Given the description of an element on the screen output the (x, y) to click on. 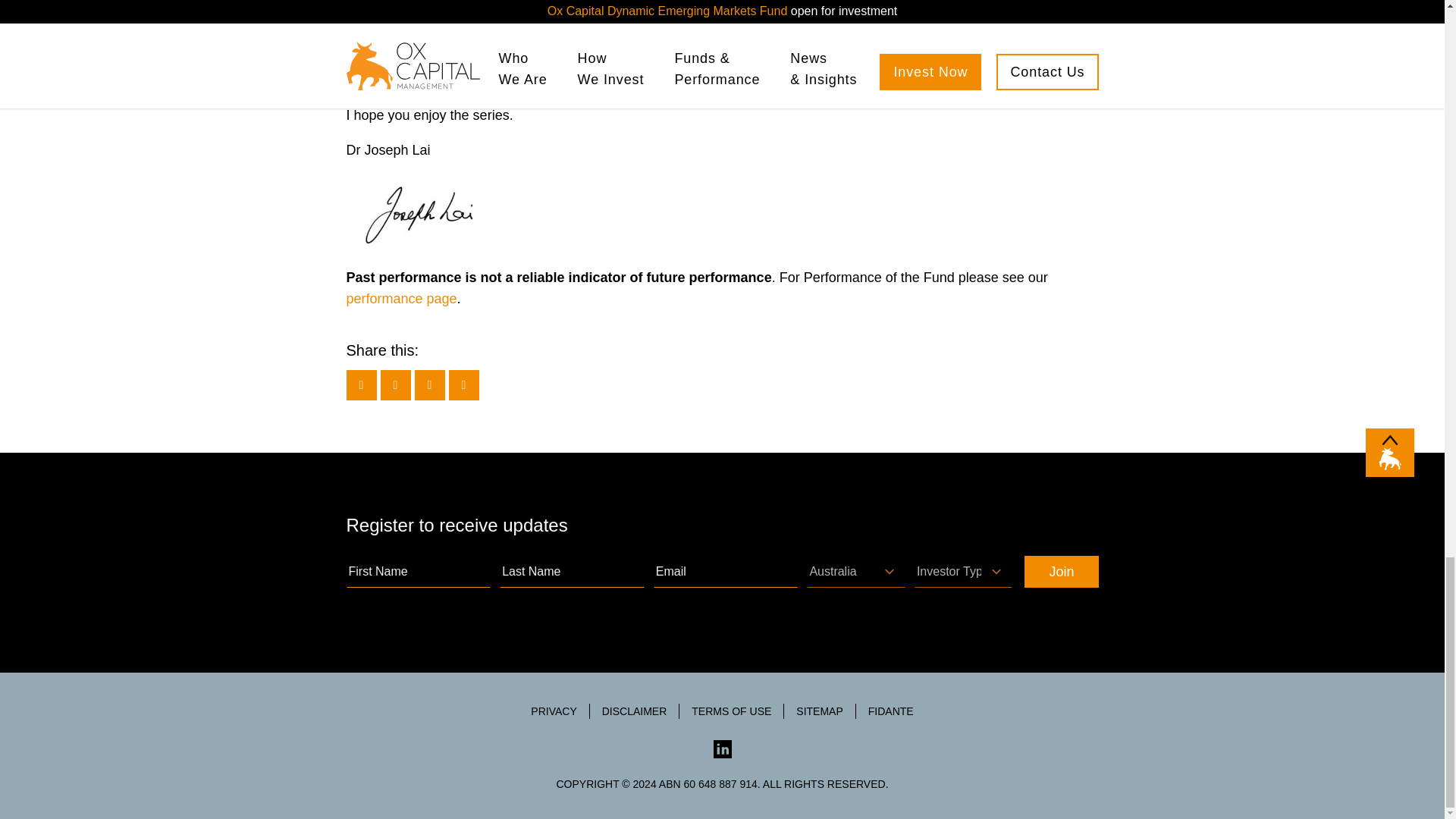
DISCLAIMER (634, 711)
Join (1061, 572)
FIDANTE (891, 711)
Join (1061, 572)
PRIVACY (553, 711)
performance page (401, 298)
SITEMAP (819, 711)
TERMS OF USE (731, 711)
LINKEDIN (721, 749)
